Given the description of an element on the screen output the (x, y) to click on. 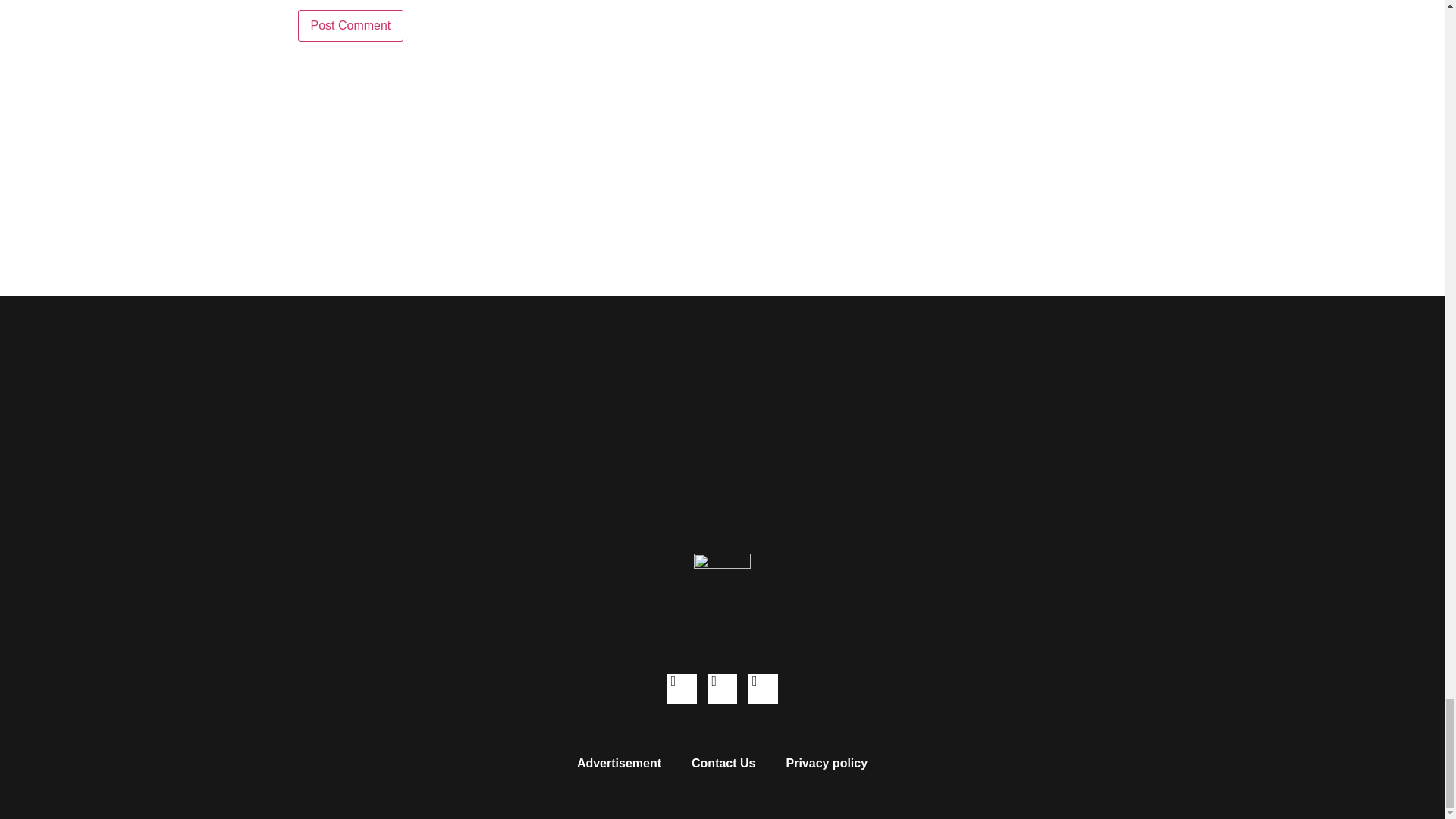
Post Comment (350, 25)
